Given the description of an element on the screen output the (x, y) to click on. 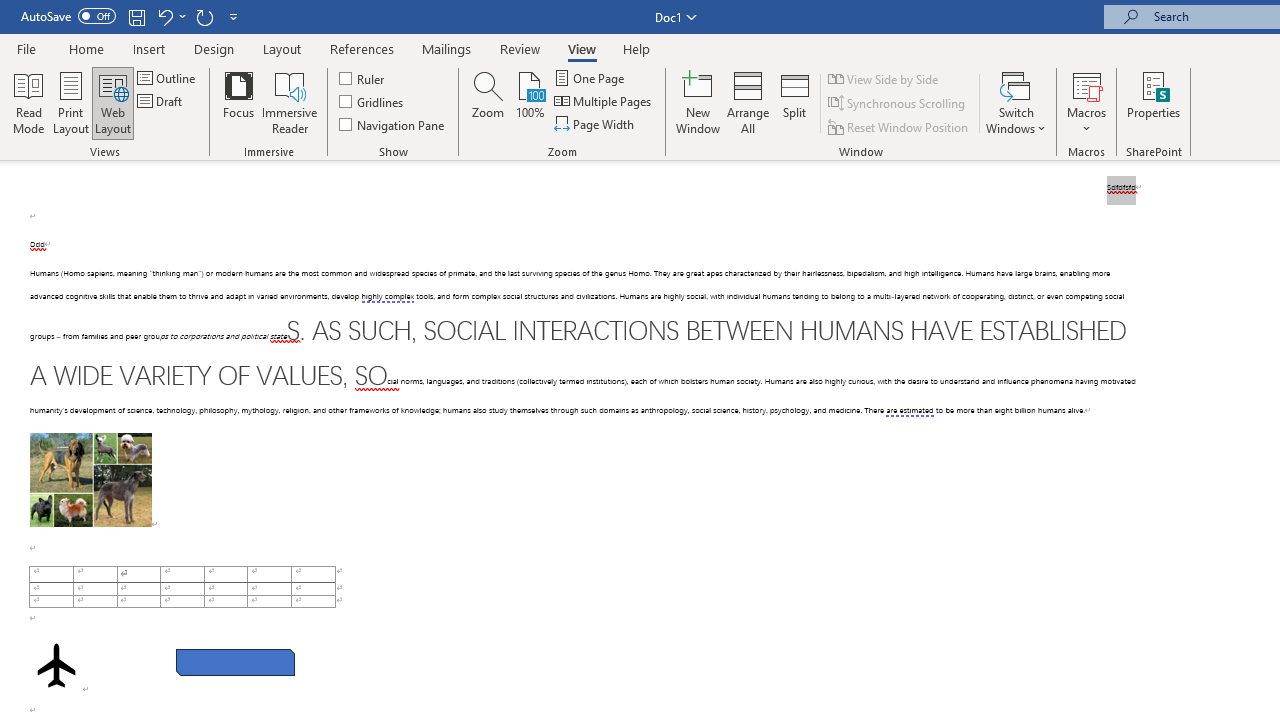
One Page (590, 78)
Outline (168, 78)
